Given the description of an element on the screen output the (x, y) to click on. 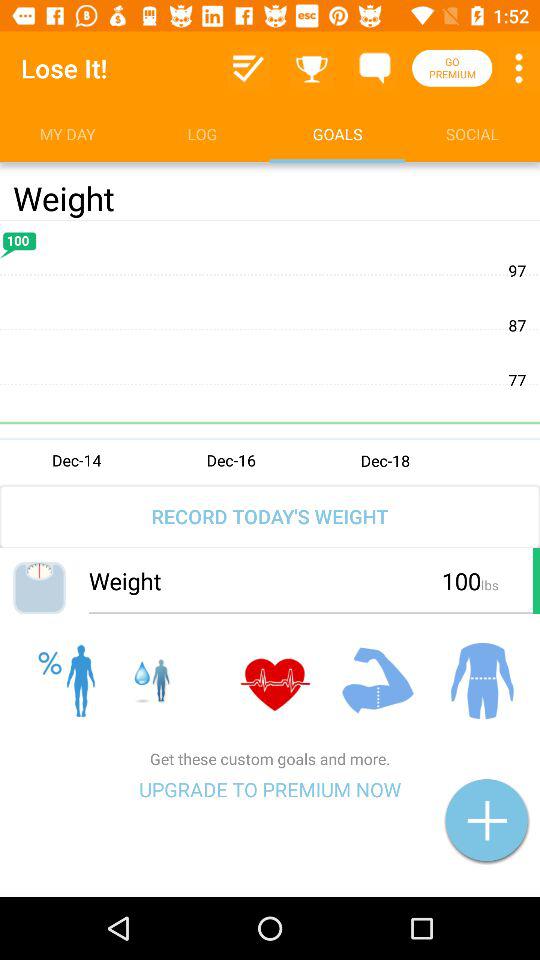
open app above the log item (248, 67)
